Given the description of an element on the screen output the (x, y) to click on. 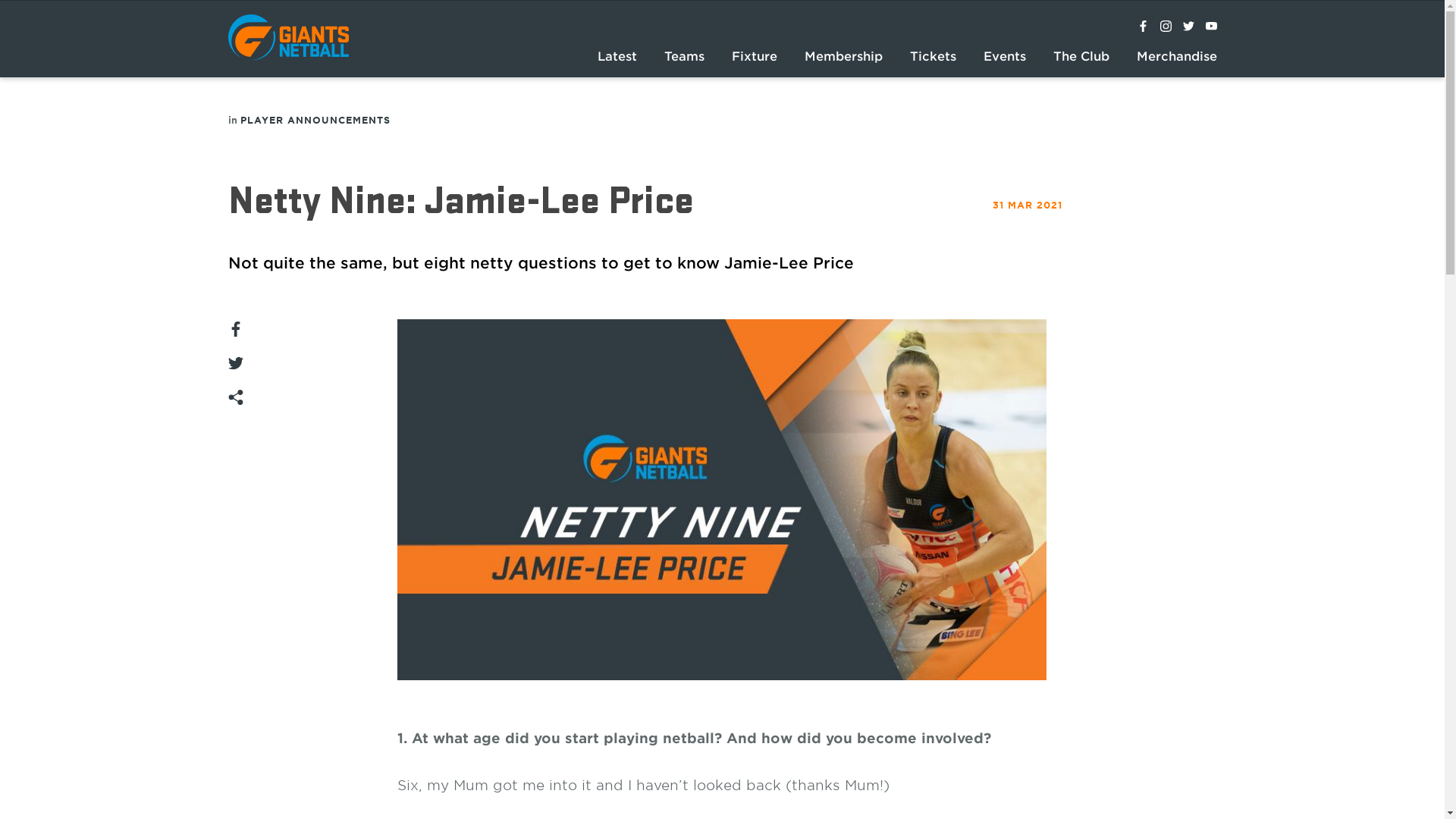
@giantsnetball Element type: hover (1165, 26)
The Club Element type: text (1080, 57)
Merchandise Element type: text (1176, 57)
CopyCopy article link to clipboard Element type: text (234, 394)
Membership Element type: text (843, 57)
Tickets Element type: text (931, 57)
PLAYER ANNOUNCEMENTS Element type: text (314, 119)
Fixture Element type: text (754, 57)
TwitterLink to share article on Twitter Element type: text (234, 360)
@GIANTS_Netball Element type: hover (1188, 26)
GIANTSNetballTV Element type: hover (1211, 26)
FacebookLink to share article on Facebook Element type: text (234, 326)
Latest Element type: text (616, 57)
Teams Element type: text (683, 57)
GIANTS Netball Facebook Element type: hover (1142, 26)
Events Element type: text (1004, 57)
